Given the description of an element on the screen output the (x, y) to click on. 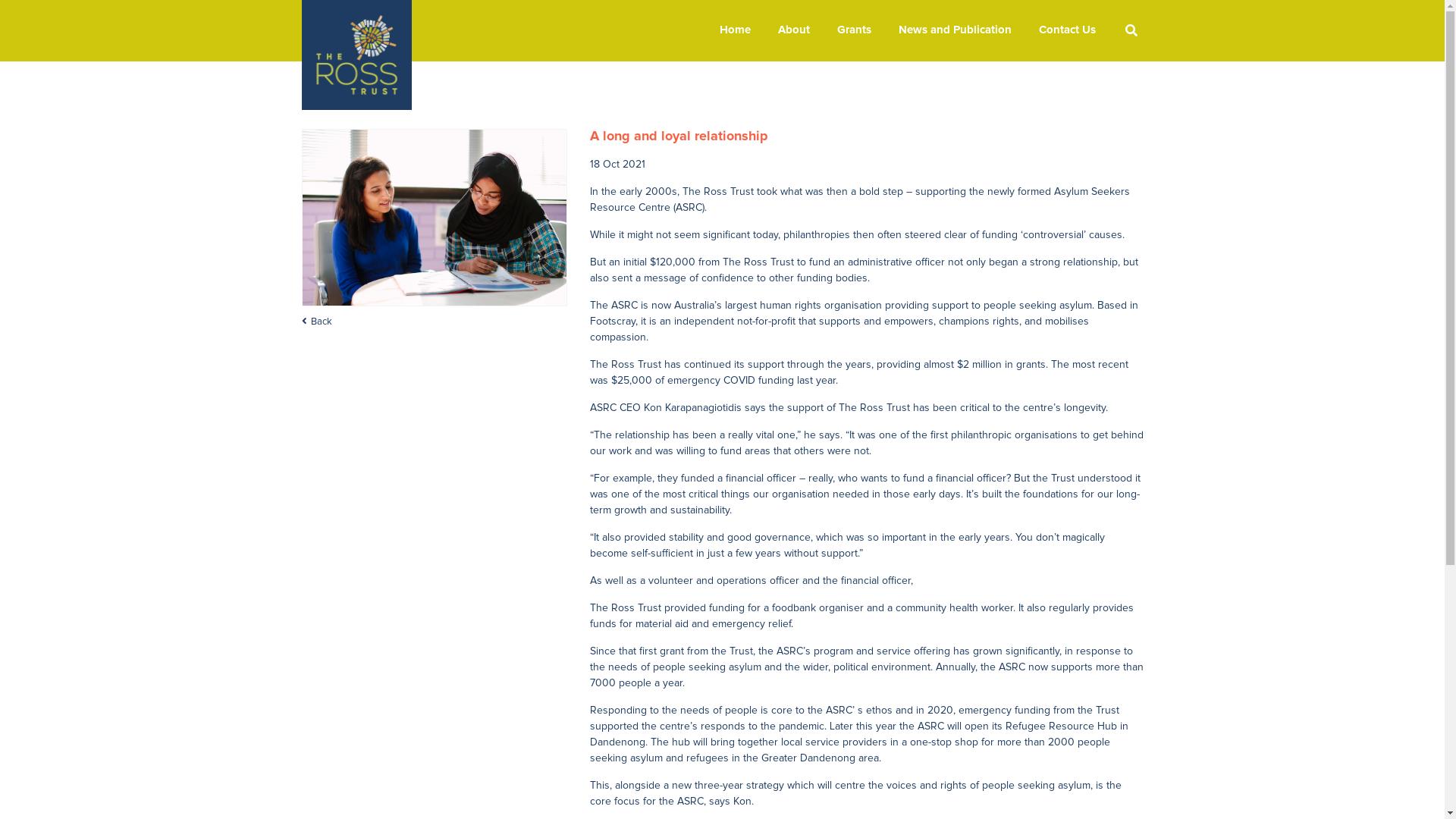
Home Element type: text (734, 30)
Contact Us Element type: text (1067, 30)
Grants Element type: text (853, 30)
News and Publication Element type: text (954, 30)
Back Element type: text (434, 321)
About Element type: text (793, 30)
